Given the description of an element on the screen output the (x, y) to click on. 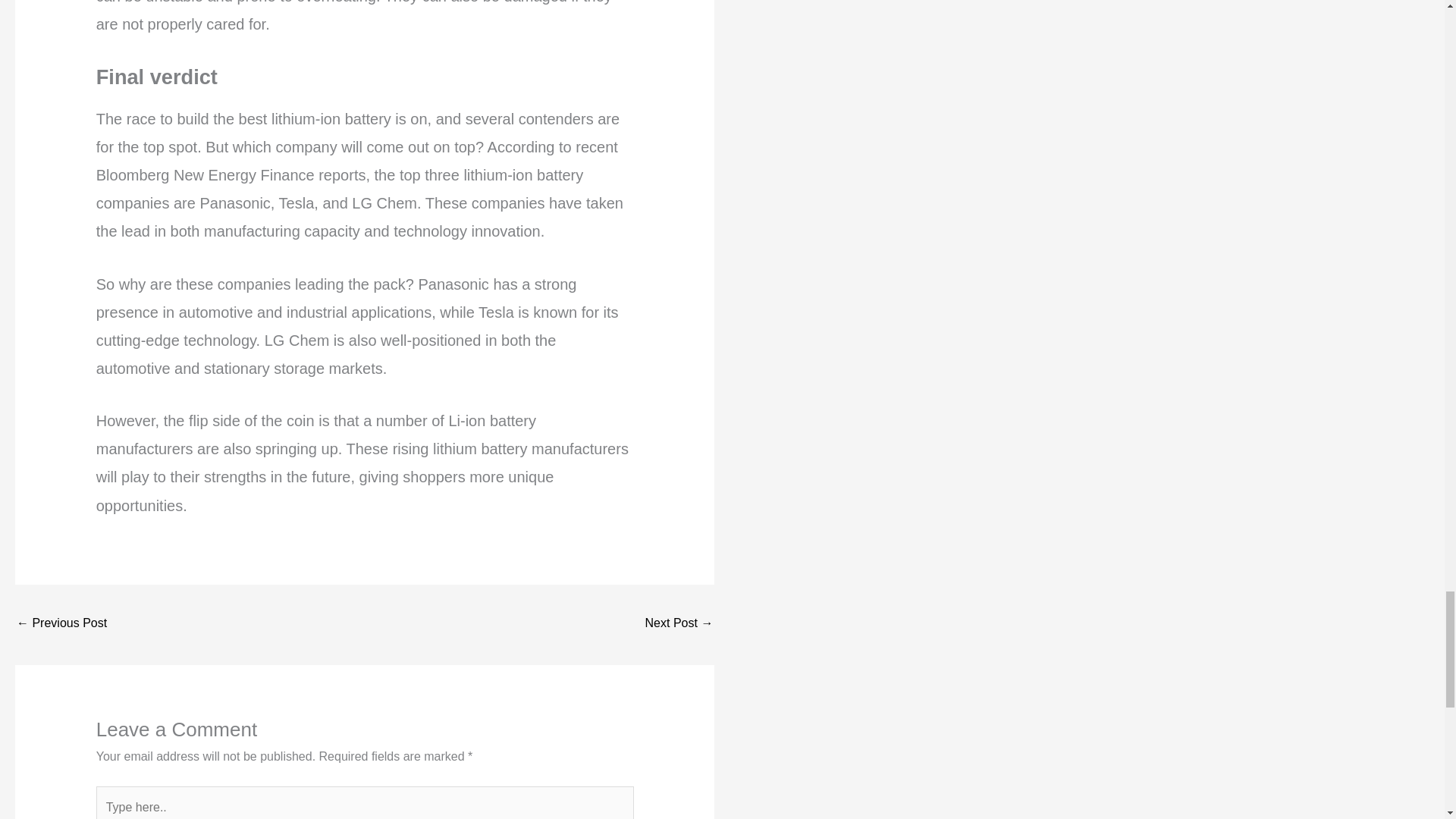
Need To Know Custom Lithium Ion Battery Packs (61, 624)
